Given the description of an element on the screen output the (x, y) to click on. 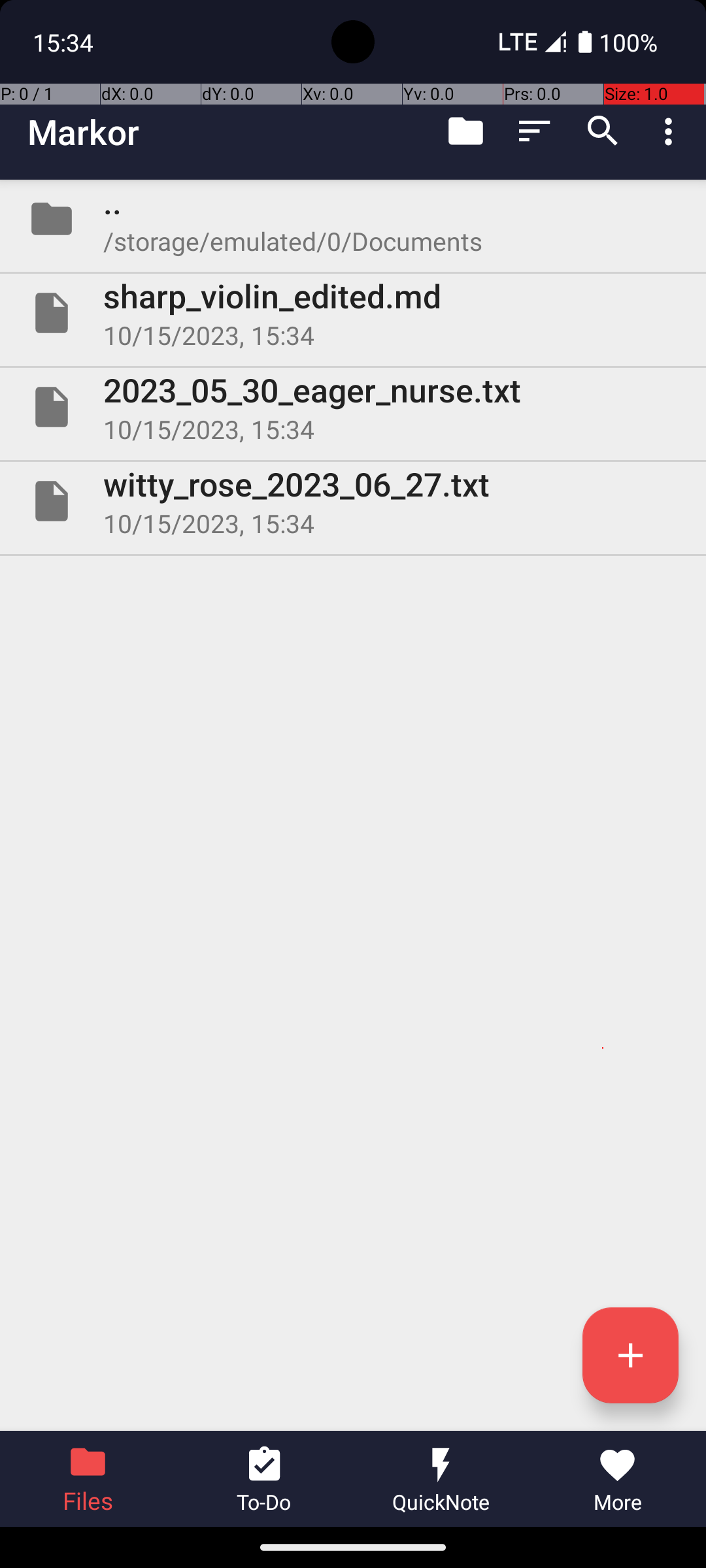
File sharp_violin_edited.md  Element type: android.widget.LinearLayout (353, 312)
File 2023_05_30_eager_nurse.txt  Element type: android.widget.LinearLayout (353, 406)
File witty_rose_2023_06_27.txt  Element type: android.widget.LinearLayout (353, 500)
